Given the description of an element on the screen output the (x, y) to click on. 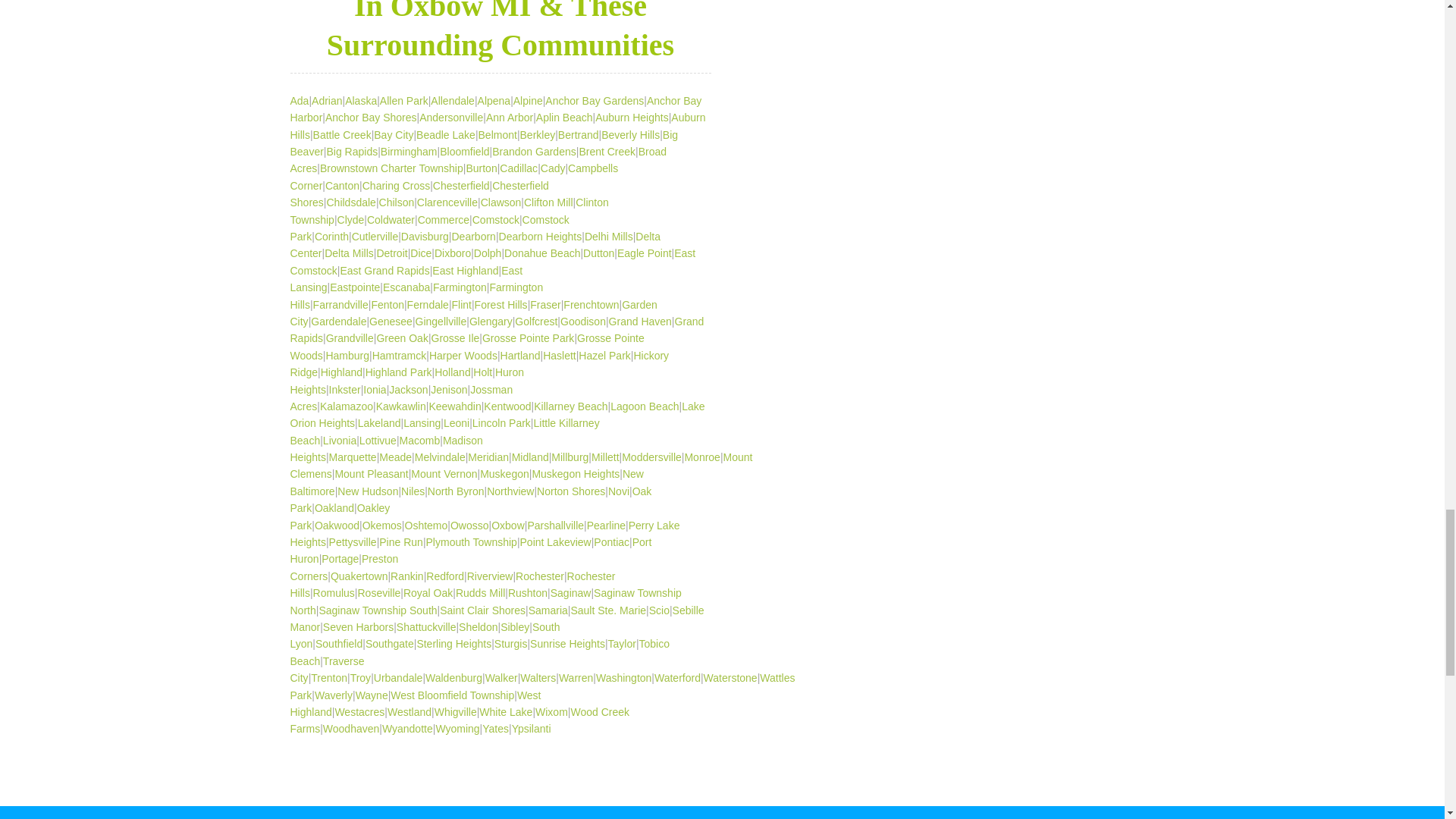
Big Beaver (483, 143)
Bay City (393, 134)
Bertrand (577, 134)
Battle Creek (342, 134)
Auburn Heights (631, 117)
Adrian (326, 101)
Anchor Bay Harbor (495, 109)
Bloomfield (464, 151)
Ann Arbor (509, 117)
Auburn Hills (496, 125)
Allendale (452, 101)
Anchor Bay Gardens (593, 101)
Alpine (528, 101)
Alpena (494, 101)
Andersonville (451, 117)
